Given the description of an element on the screen output the (x, y) to click on. 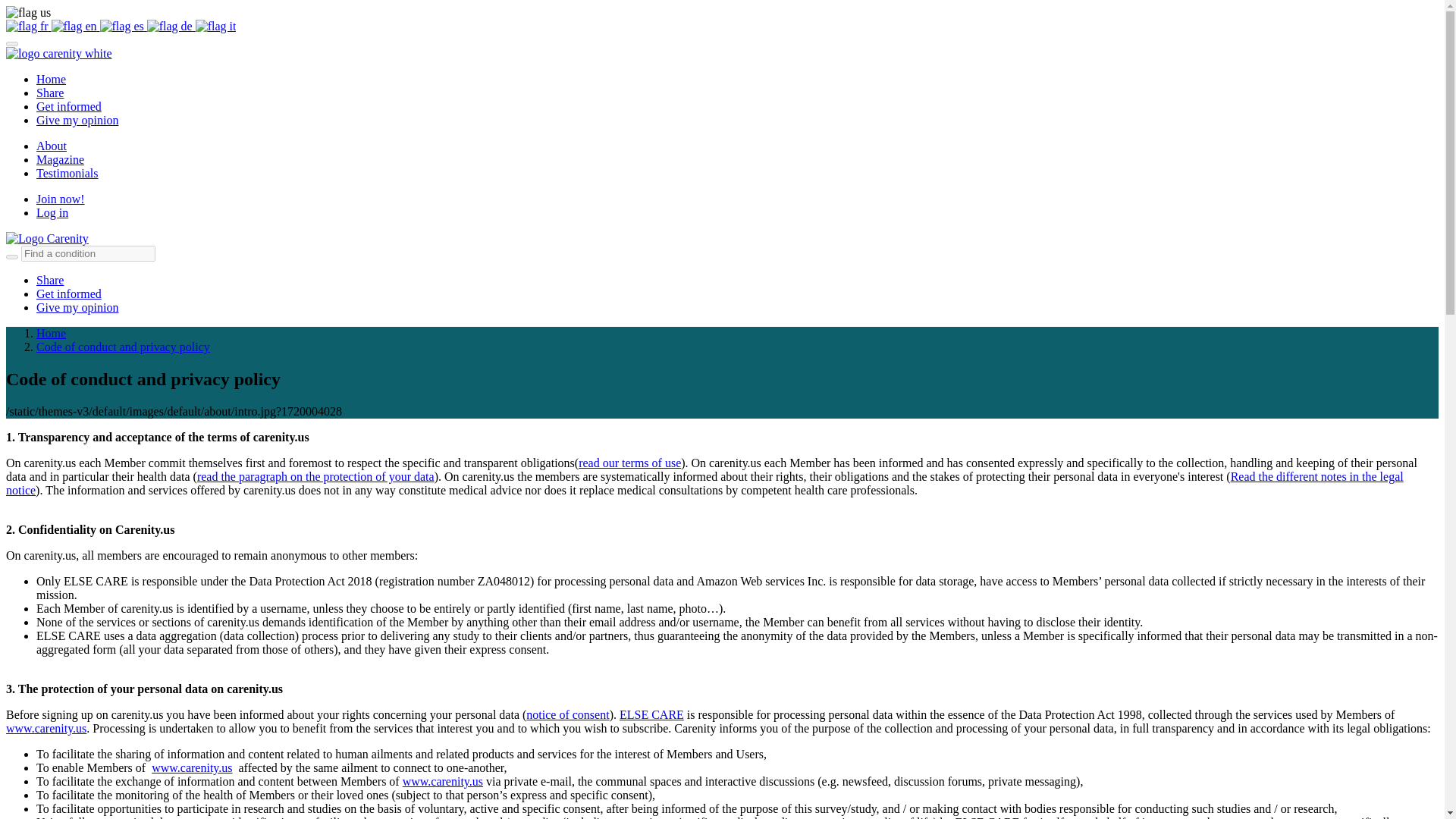
notice of consent (566, 714)
Testimonials (67, 173)
www.carenity.us (191, 767)
Give my opinion (76, 307)
German (169, 26)
Share (50, 92)
Spanish (122, 26)
Get informed (68, 293)
Home (50, 78)
Italian (215, 26)
